Given the description of an element on the screen output the (x, y) to click on. 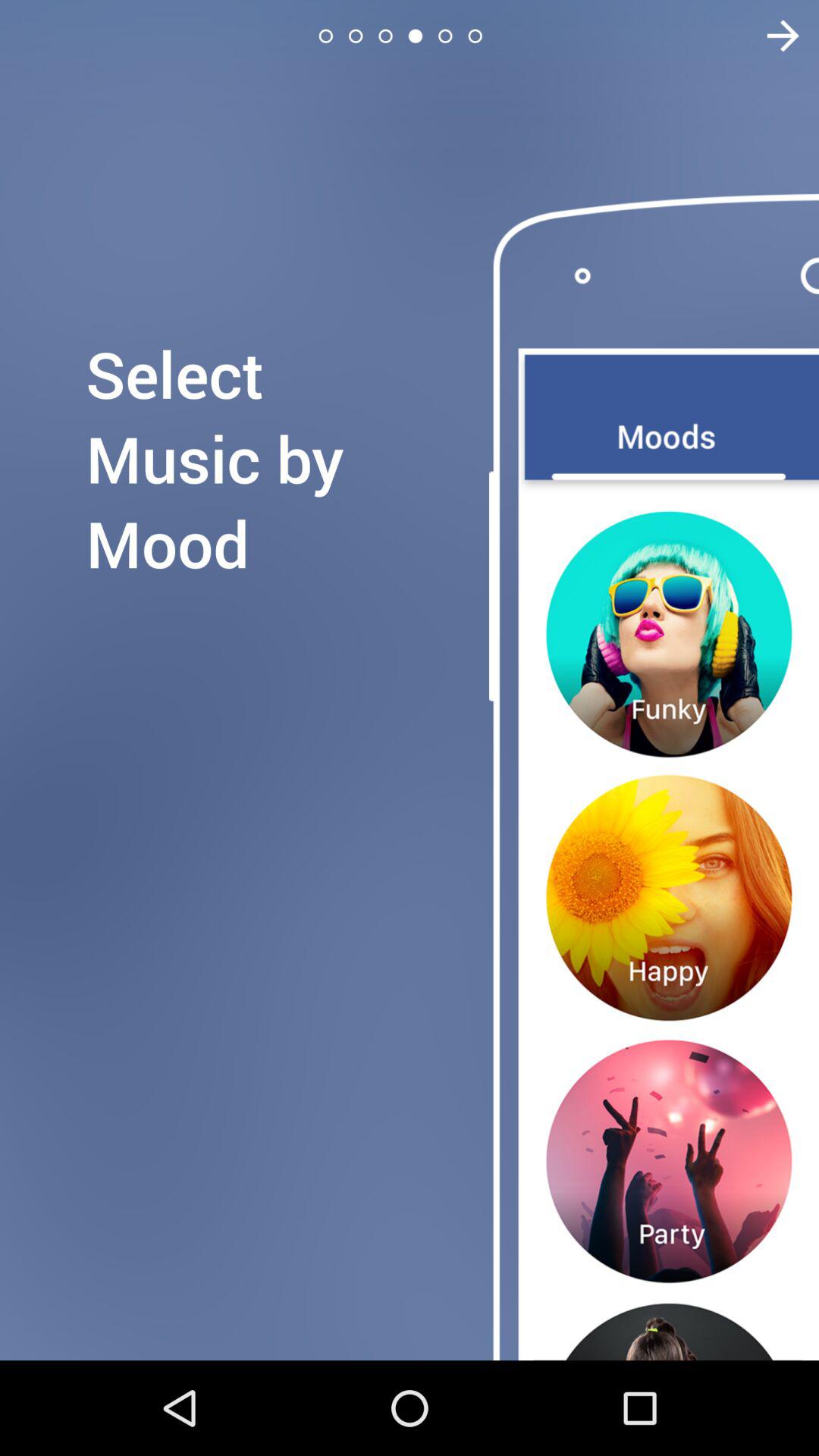
go to forward (773, 35)
